Given the description of an element on the screen output the (x, y) to click on. 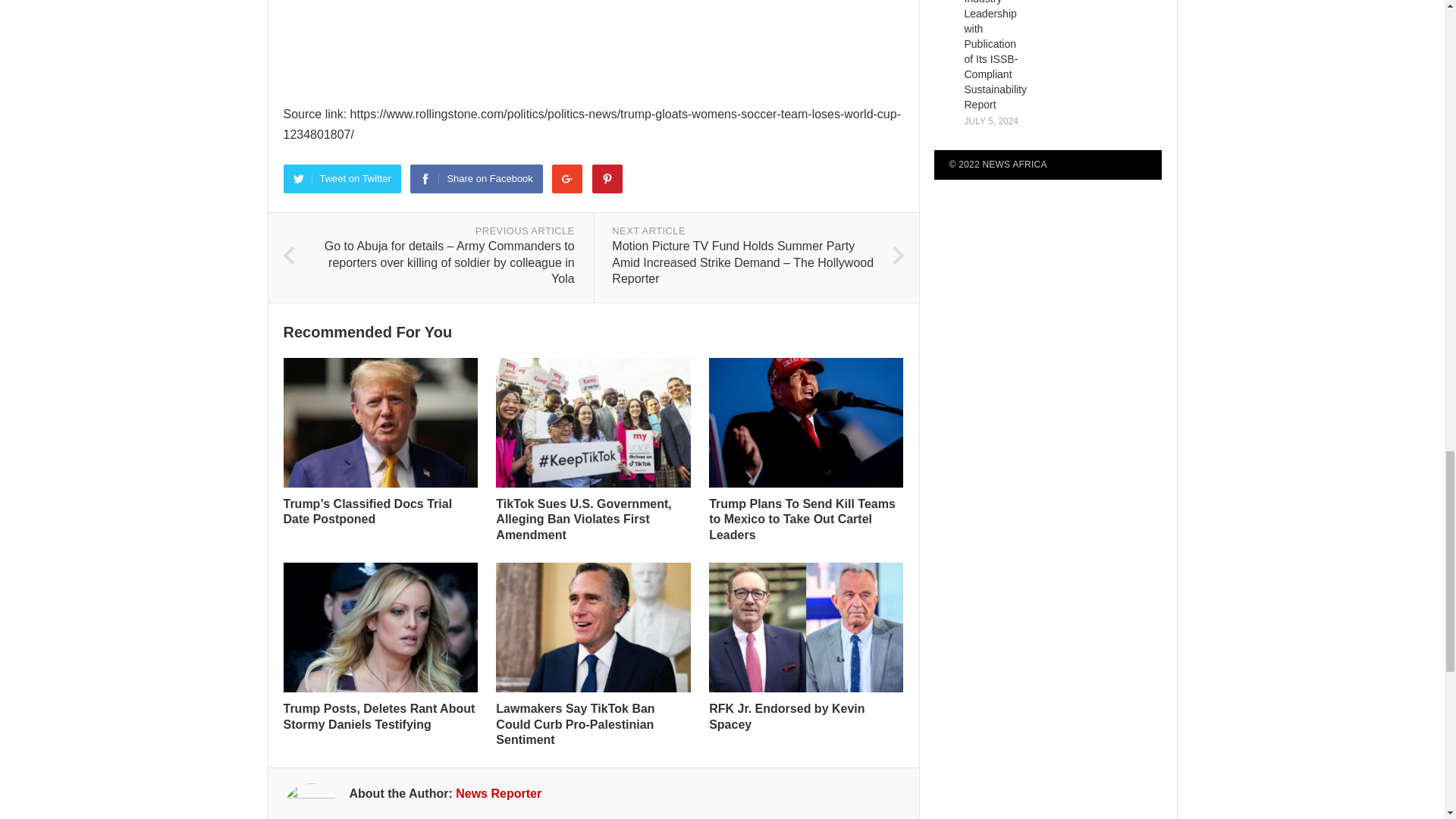
Pinterest (607, 177)
Tweet on Twitter (342, 177)
Share on Facebook (475, 177)
